Given the description of an element on the screen output the (x, y) to click on. 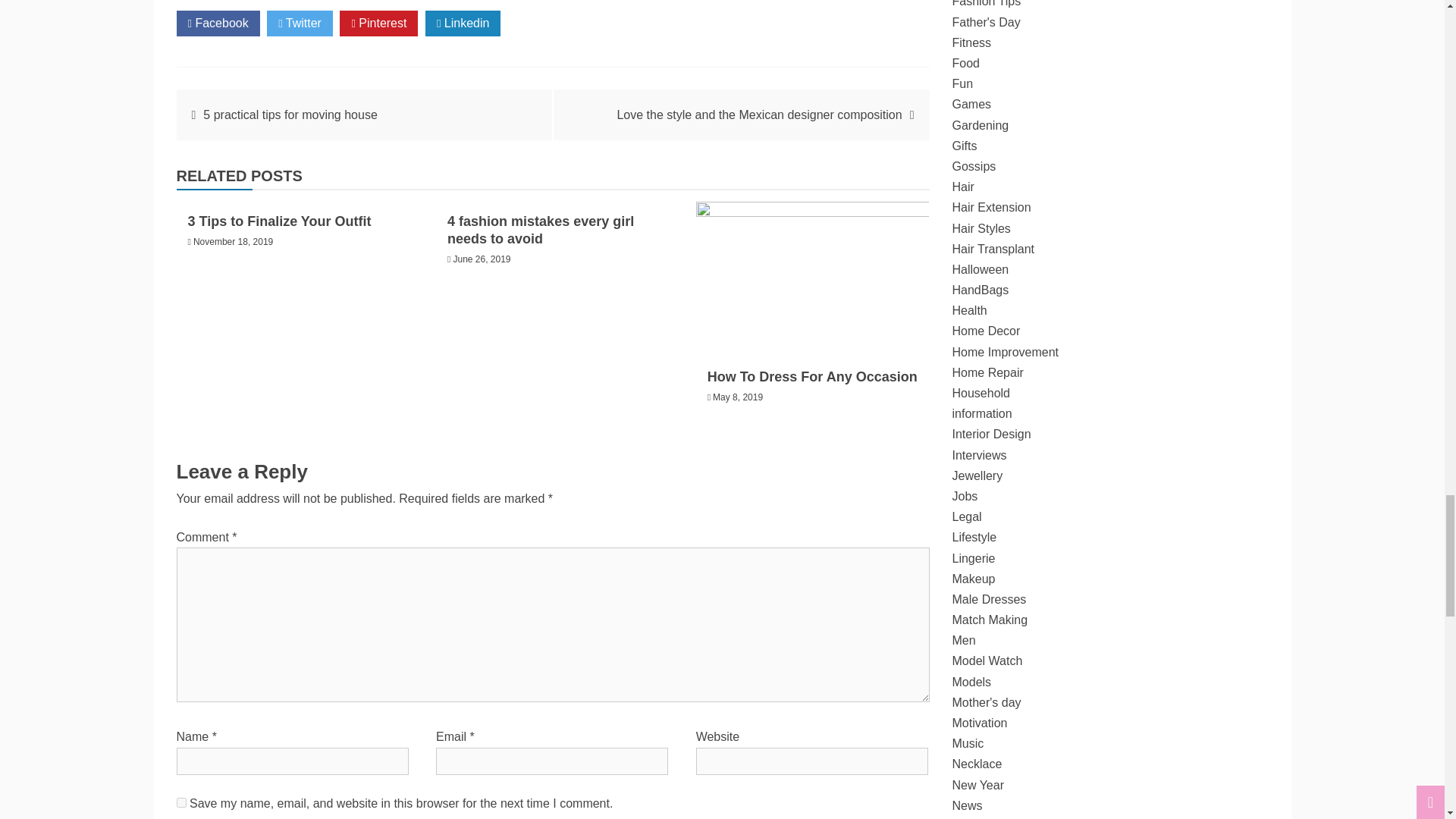
yes (181, 802)
